Given the description of an element on the screen output the (x, y) to click on. 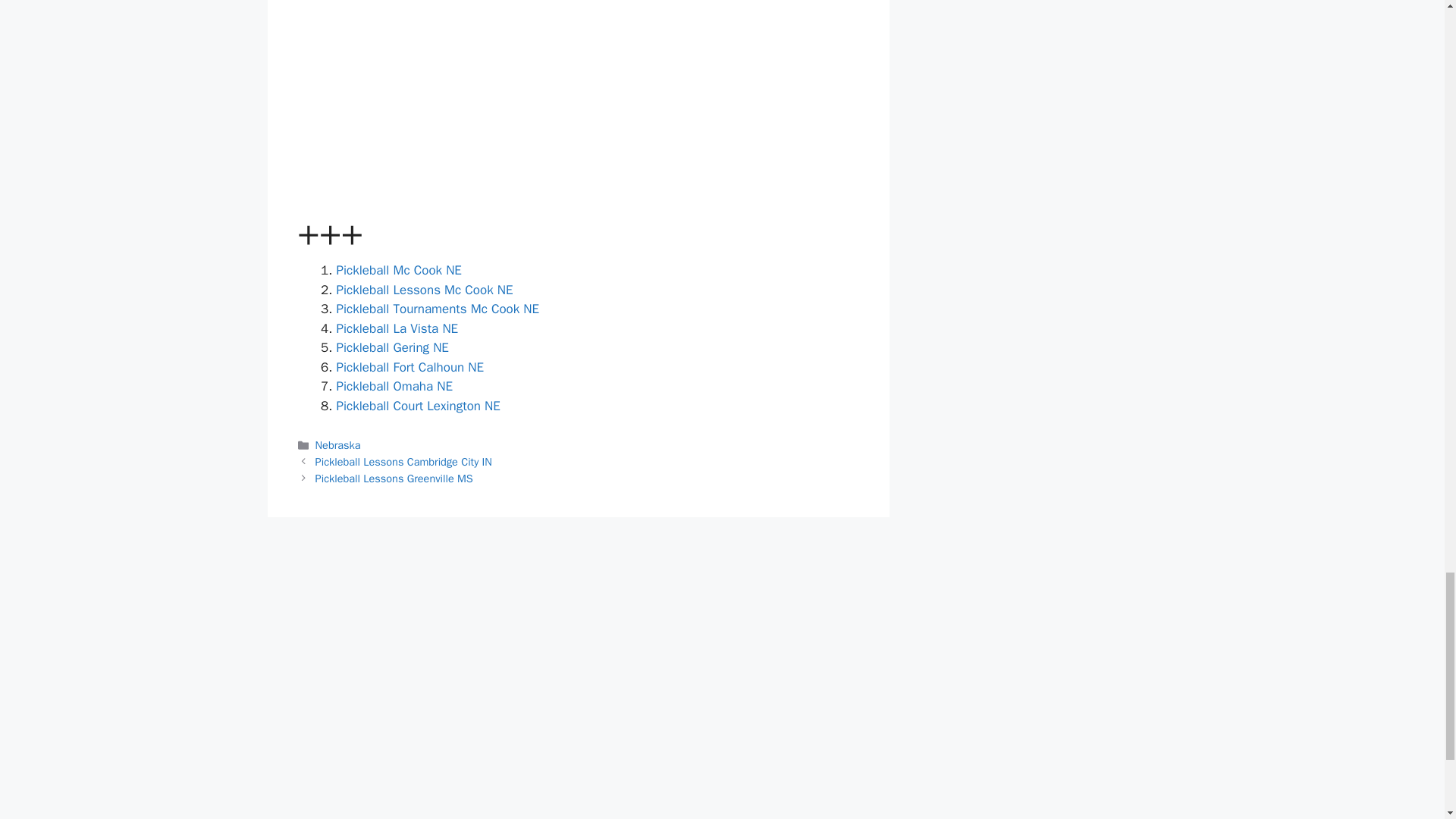
Pickleball Court Lexington NE (418, 406)
Pickleball Lessons Mc Cook NE (424, 289)
Pickleball Gering NE (392, 347)
Pickleball Omaha NE (394, 385)
Nebraska (338, 445)
Pickleball Lessons Mc Cook NE (424, 289)
Pickleball Gering NE (392, 347)
Pickleball Lessons Cambridge City IN (403, 461)
Pickleball Mc Cook NE (398, 270)
Pickleball Court Lexington NE (418, 406)
Pickleball Tournaments Mc Cook NE (438, 308)
Pickleball La Vista NE (397, 328)
Pickleball Tournaments Mc Cook NE (438, 308)
Pickleball Fort Calhoun NE (410, 367)
Pickleball La Vista NE (397, 328)
